Given the description of an element on the screen output the (x, y) to click on. 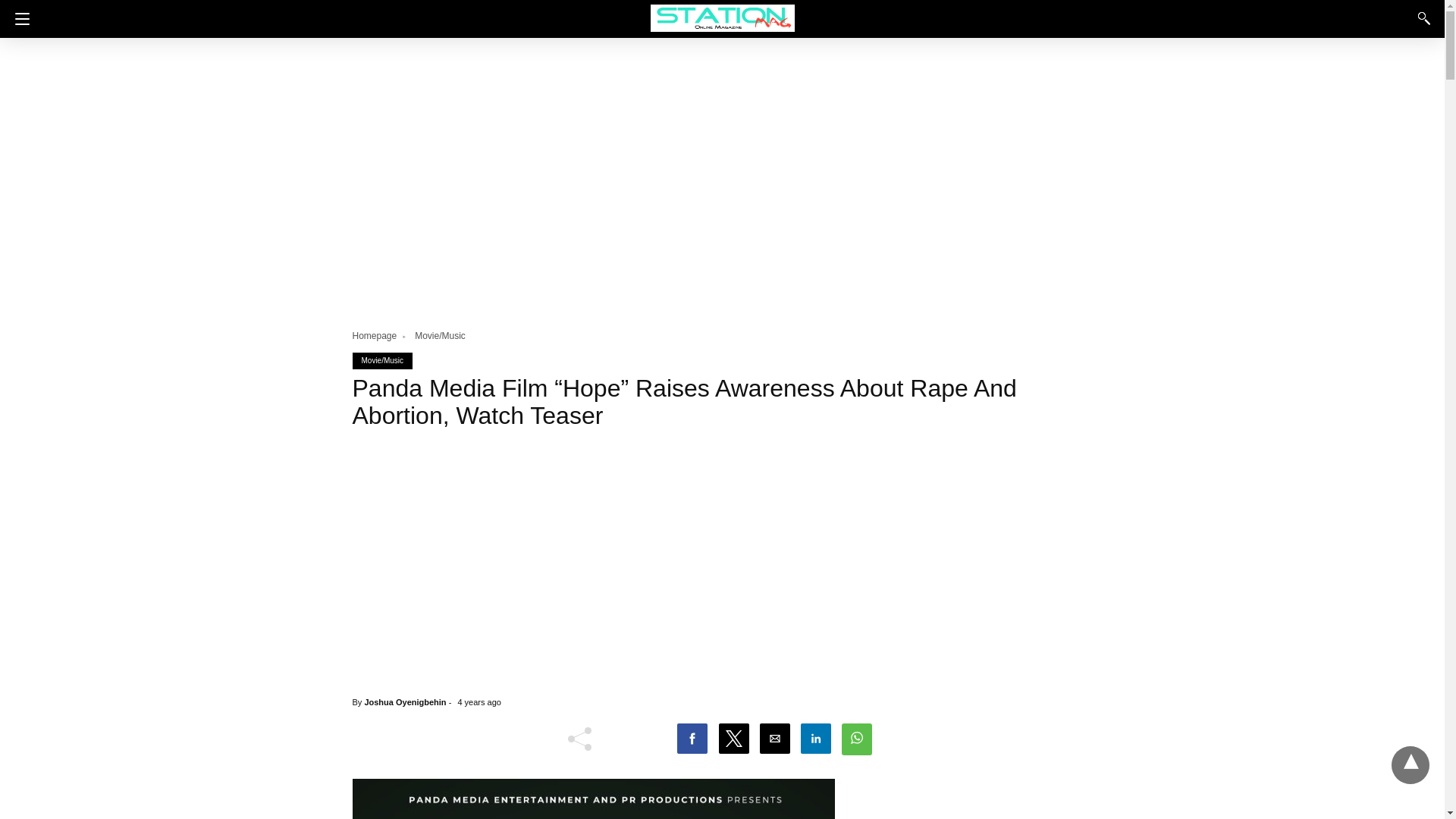
Facebook like button (638, 742)
Homepage (381, 335)
Homepage (381, 335)
